Given the description of an element on the screen output the (x, y) to click on. 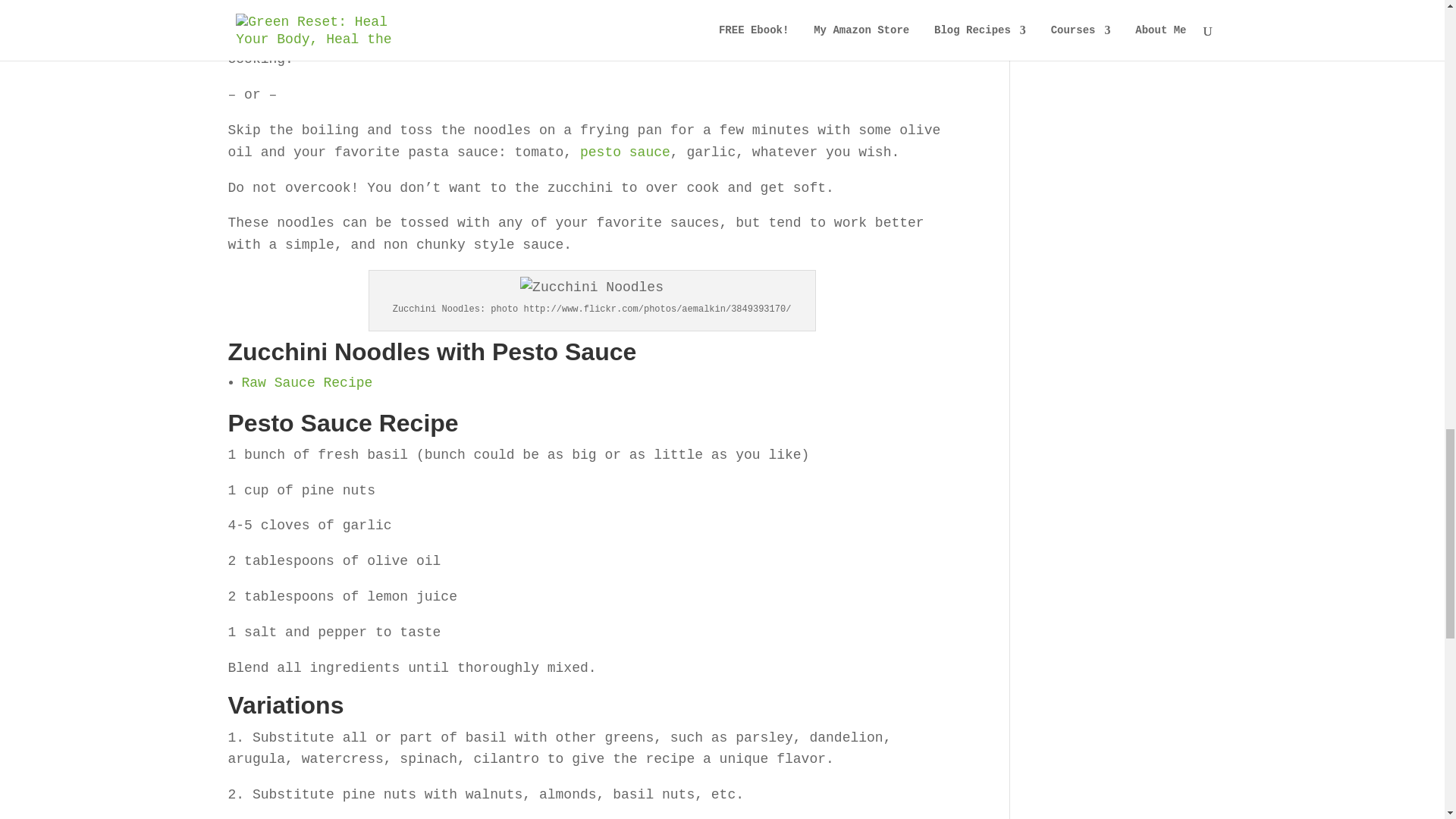
Zucchini Noodles (591, 287)
pesto sauce (624, 151)
Raw Sauce Recipe (306, 382)
